Given the description of an element on the screen output the (x, y) to click on. 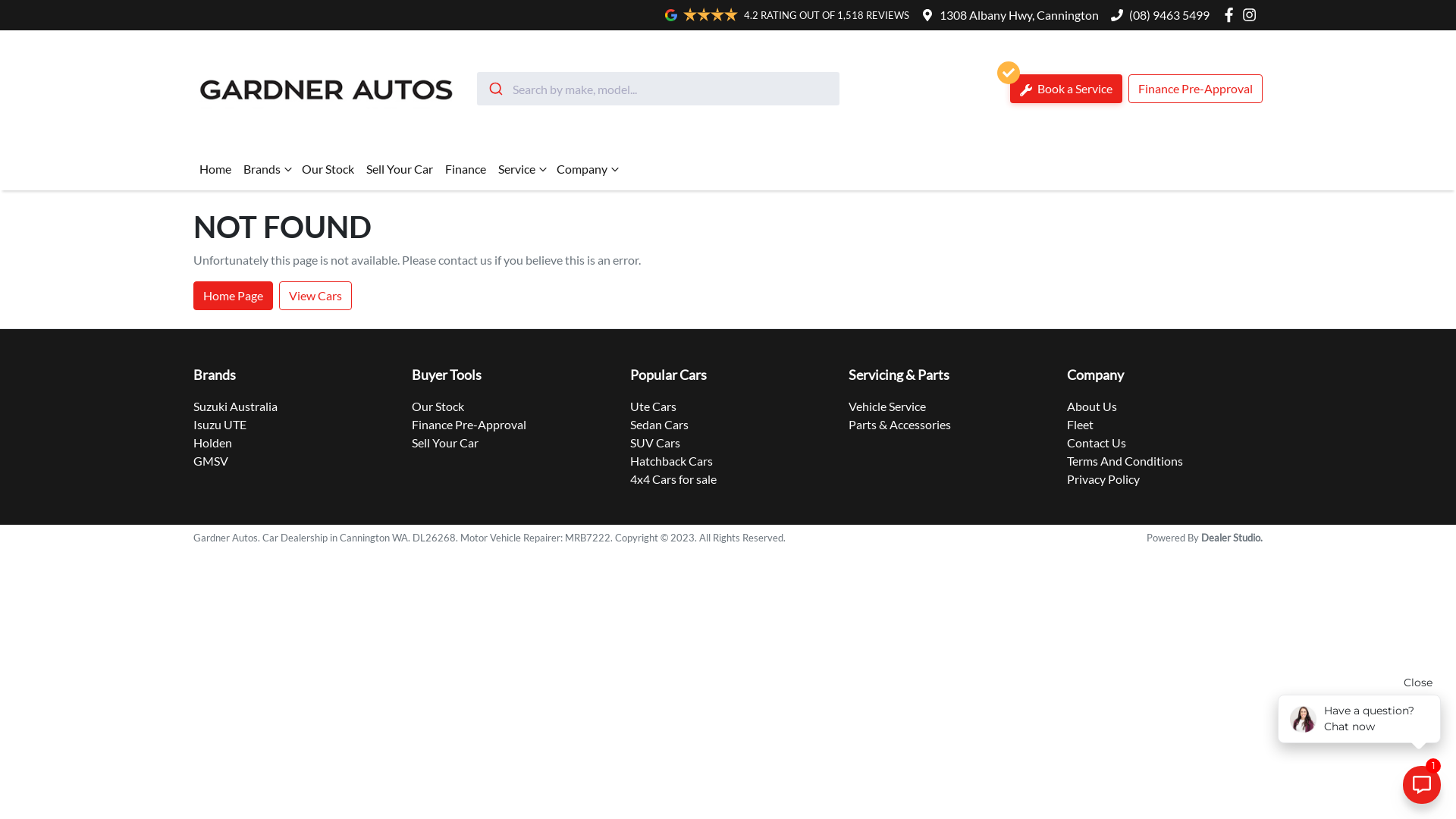
Book a Service Element type: text (1066, 88)
Sell Your Car Element type: text (399, 168)
Home Element type: text (215, 168)
Ute Cars Element type: text (653, 405)
Suzuki Australia Element type: text (235, 405)
Holden Element type: text (212, 442)
Finance Pre-Approval Element type: text (468, 424)
About Us Element type: text (1091, 405)
Finance Element type: text (465, 168)
Our Stock Element type: text (437, 405)
Isuzu UTE Element type: text (219, 424)
Home Page Element type: text (233, 295)
(08) 9463 5499 Element type: text (1169, 14)
Sell Your Car Element type: text (444, 442)
Brands Element type: text (266, 168)
Privacy Policy Element type: text (1102, 478)
Submit Element type: hover (494, 88)
Fleet Element type: text (1079, 424)
View Cars Element type: text (315, 295)
Hatchback Cars Element type: text (671, 460)
Contact Us Element type: text (1096, 442)
Vehicle Service Element type: text (886, 405)
Finance Pre-Approval Element type: text (1195, 88)
Parts & Accessories Element type: text (899, 424)
Company Element type: text (586, 168)
4x4 Cars for sale Element type: text (673, 478)
Terms And Conditions Element type: text (1124, 460)
SUV Cars Element type: text (655, 442)
Dealer Studio. Element type: text (1231, 537)
Service Element type: text (521, 168)
Our Stock Element type: text (327, 168)
GMSV Element type: text (210, 460)
1308 Albany Hwy, Cannington Element type: text (1018, 14)
Sedan Cars Element type: text (659, 424)
